Given the description of an element on the screen output the (x, y) to click on. 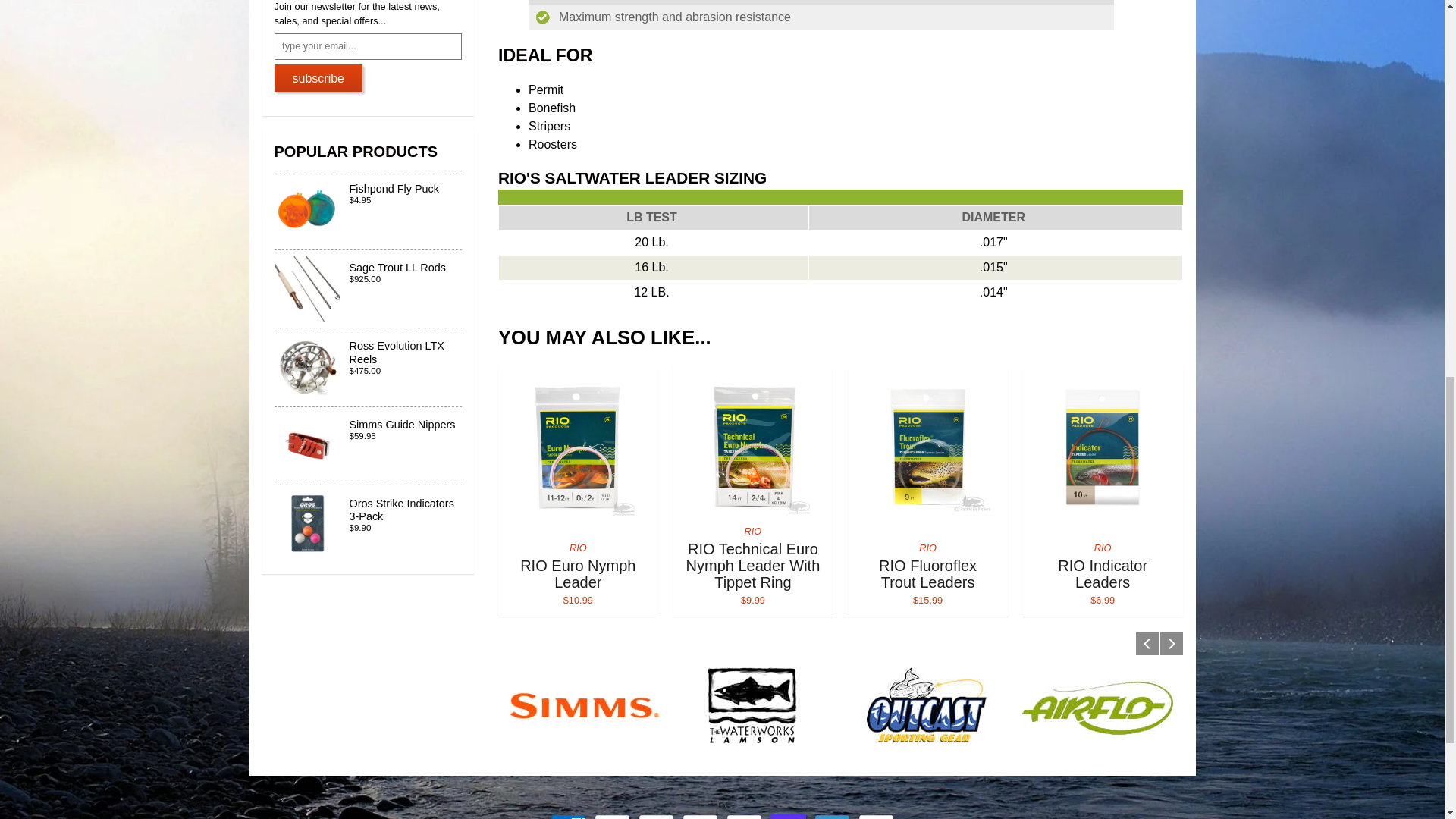
Oros Strike Indicators 3-Pack (839, 255)
Sage Trout LL Rods (369, 523)
Ross Evolution LTX Reels (369, 289)
Simms Guide Nippers (369, 367)
Fishpond Fly Puck (369, 446)
